Given the description of an element on the screen output the (x, y) to click on. 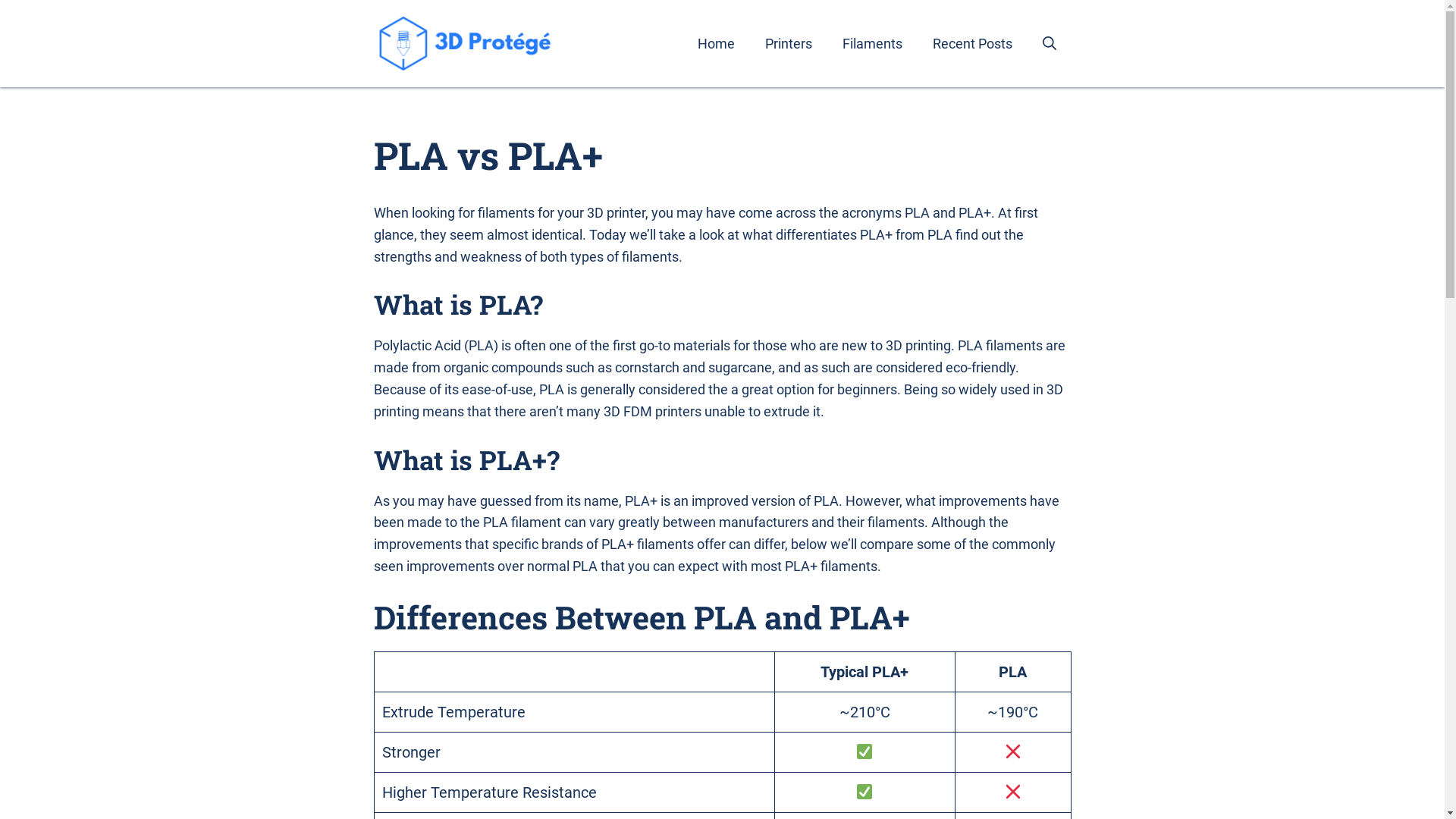
Recent Posts Element type: text (972, 43)
Filaments Element type: text (871, 43)
Printers Element type: text (787, 43)
Home Element type: text (715, 43)
